Given the description of an element on the screen output the (x, y) to click on. 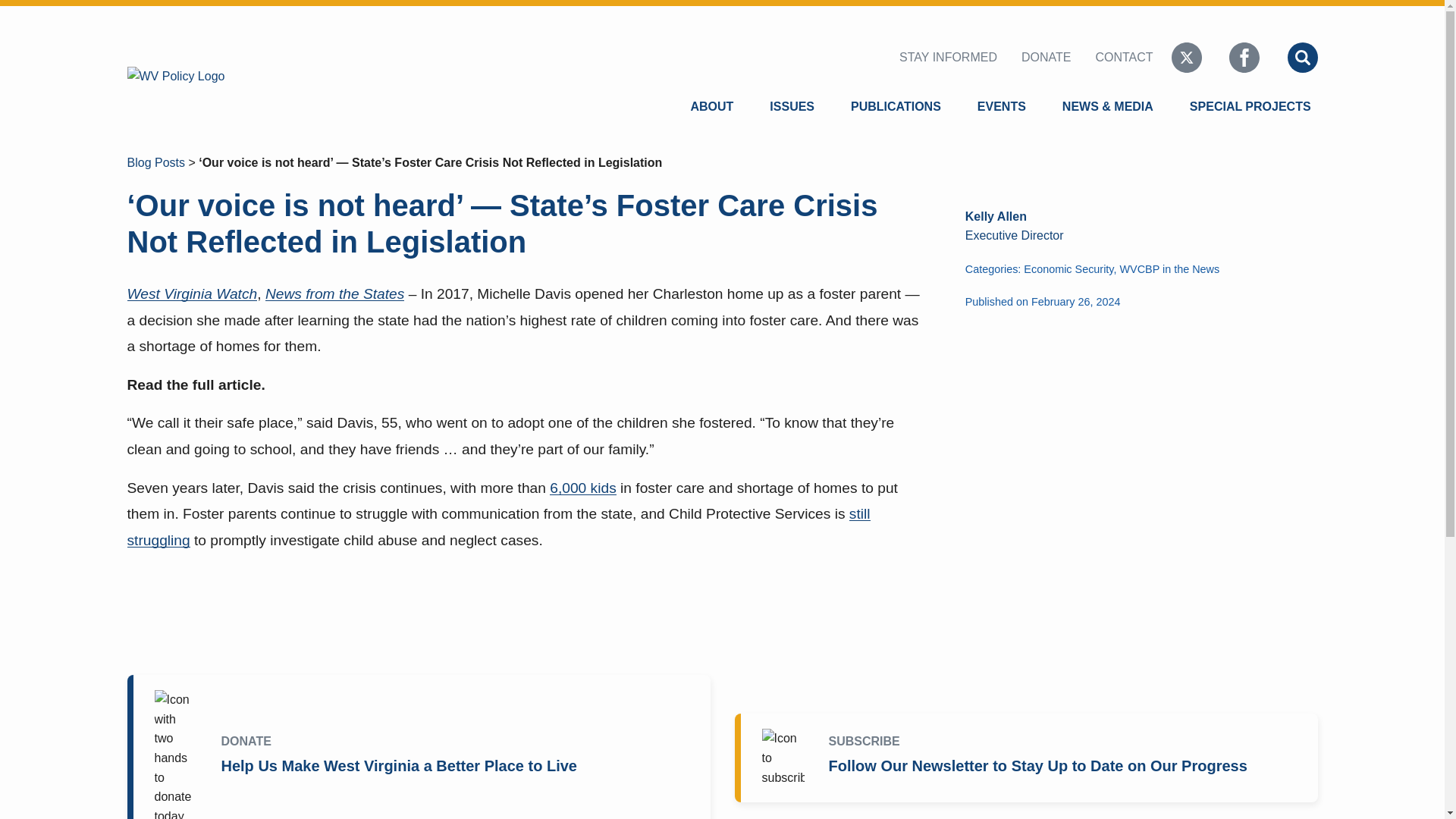
CONTACT (1123, 57)
ABOUT (714, 106)
Donate (1045, 57)
STAY INFORMED (951, 57)
Subscribe Today! (1028, 757)
Stay Informed (951, 57)
Like Us on Facebook (1244, 57)
PUBLICATIONS (895, 106)
EVENTS (1001, 106)
Contact (1123, 57)
